Given the description of an element on the screen output the (x, y) to click on. 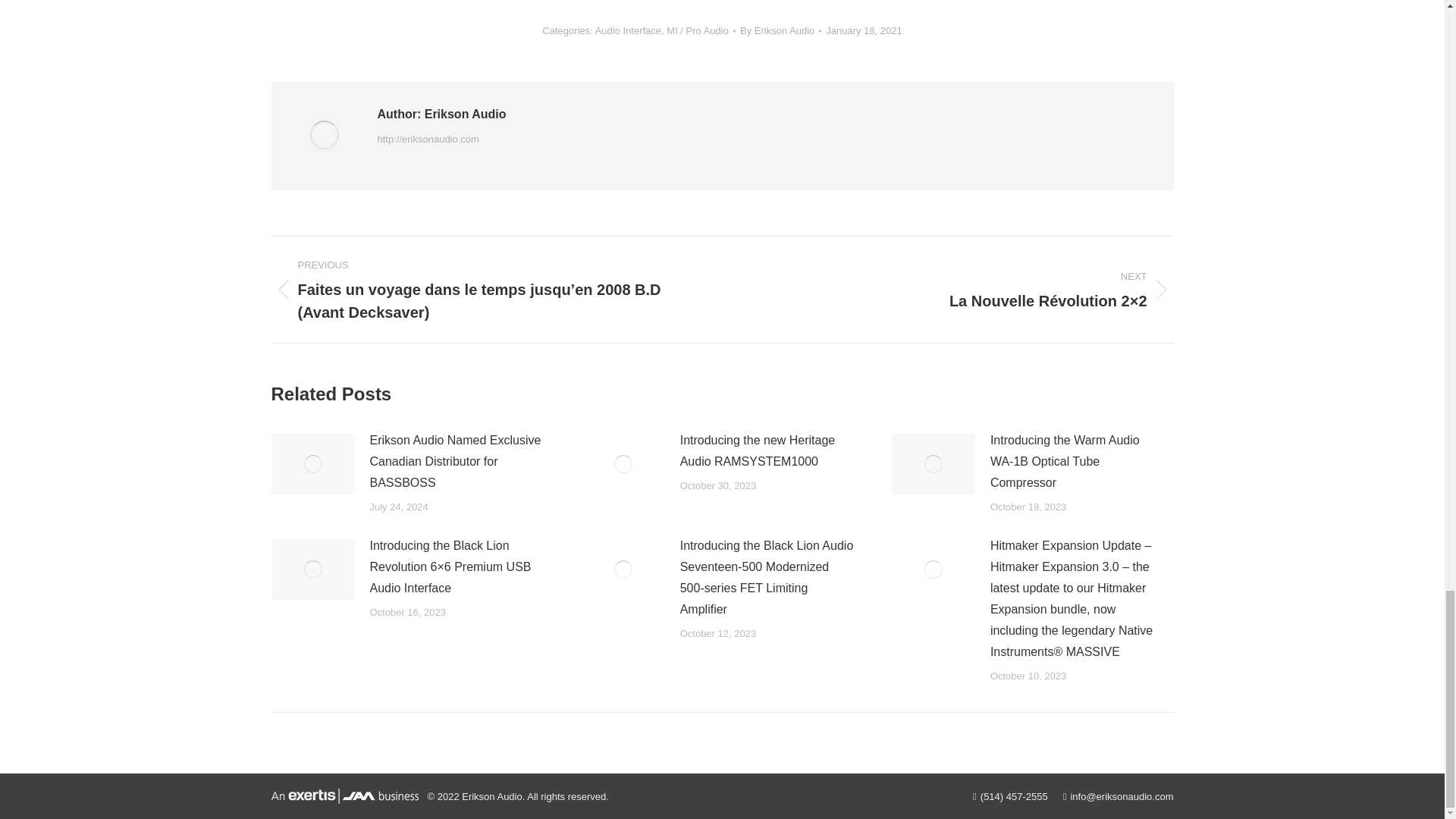
January 18, 2021 (863, 30)
View all posts by Erikson Audio (780, 30)
Introducing the Warm Audio WA-1B Optical Tube Compressor (1076, 461)
Audio Interface (628, 30)
Introducing the new Heritage Audio RAMSYSTEM1000 (766, 450)
By Erikson Audio (780, 30)
11:38 am (863, 30)
